Given the description of an element on the screen output the (x, y) to click on. 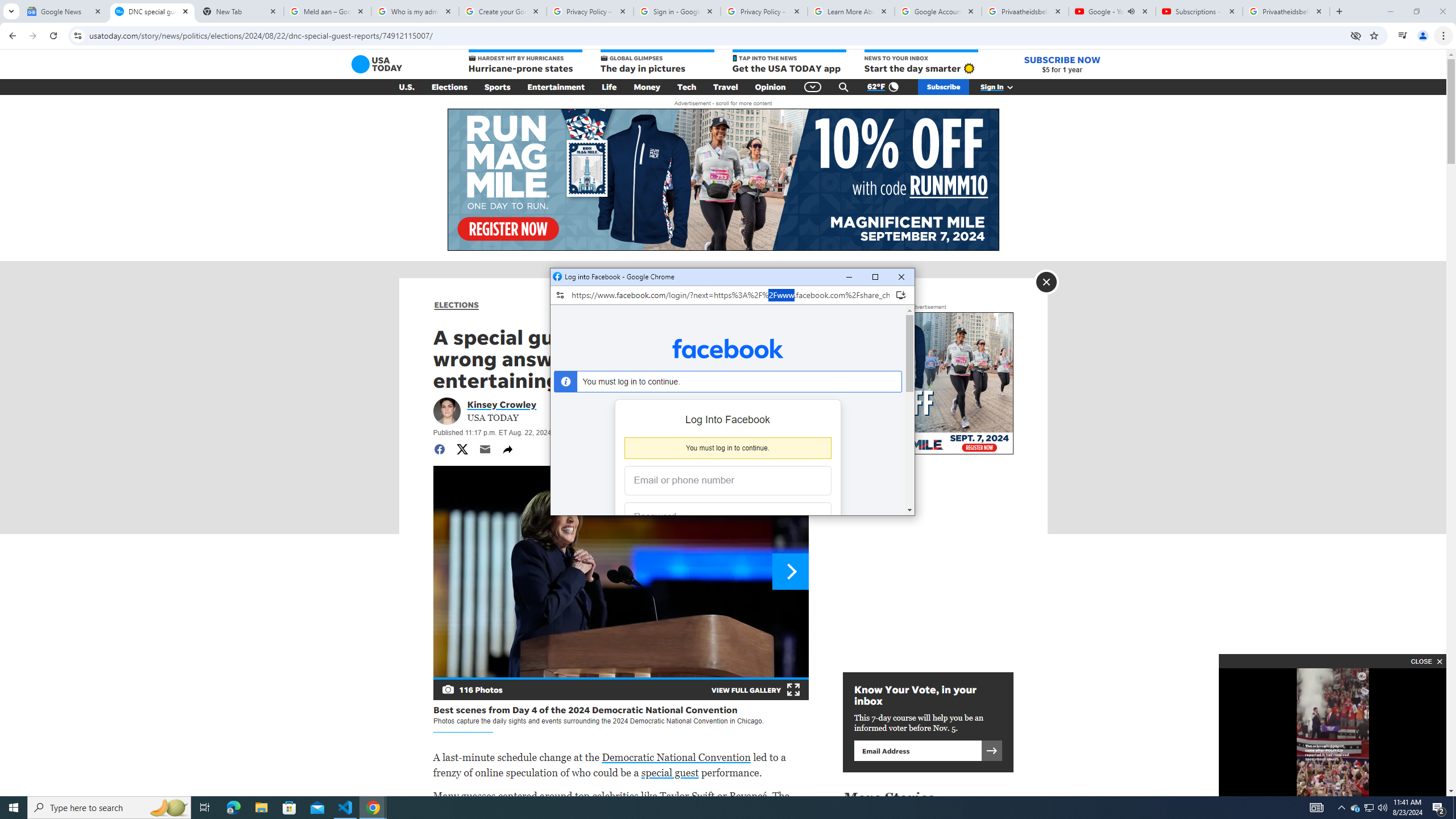
ELECTIONS (456, 304)
File Explorer (261, 807)
AutomationID: aw0 (722, 180)
Visual Studio Code - 1 running window (345, 807)
Money (646, 87)
Travel (725, 87)
Global Navigation (812, 87)
Sports (497, 87)
Share to Twitter (461, 449)
